Given the description of an element on the screen output the (x, y) to click on. 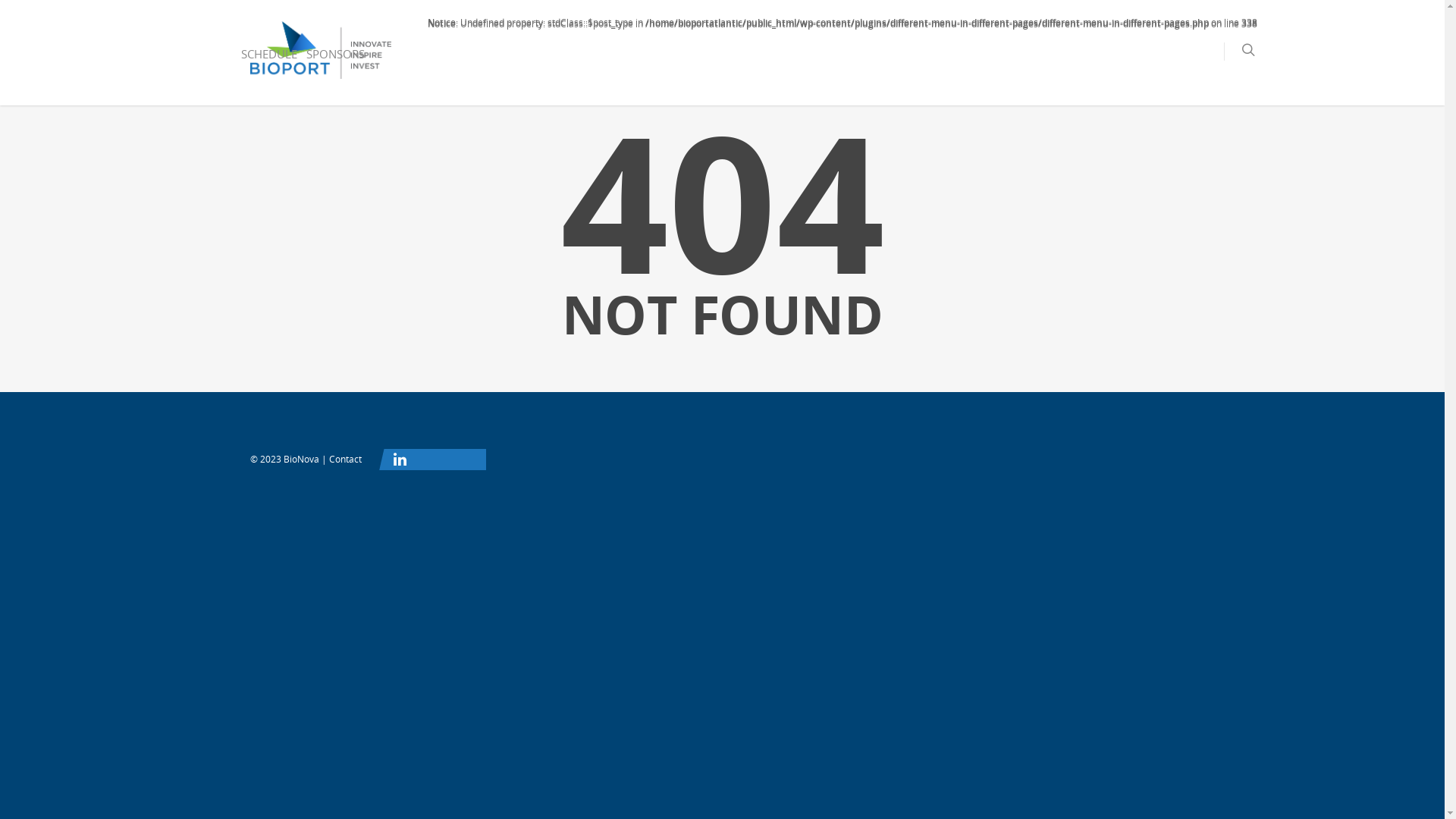
SCHEDULE Element type: text (269, 64)
Contact Element type: text (345, 458)
SPONSORS Element type: text (335, 64)
